Given the description of an element on the screen output the (x, y) to click on. 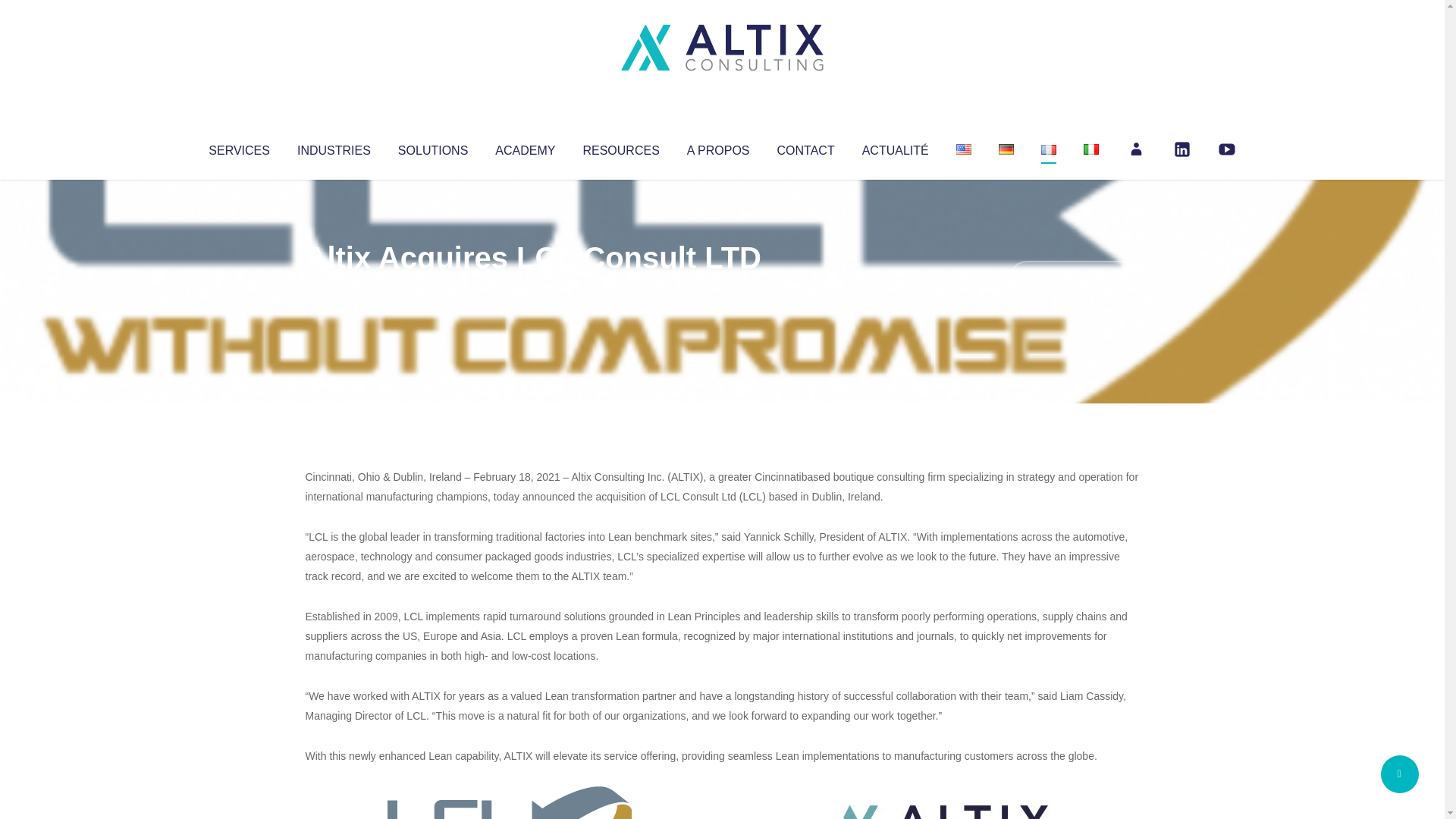
No Comments (1073, 278)
Altix (333, 287)
Uncategorized (530, 287)
Articles par Altix (333, 287)
ACADEMY (524, 146)
RESOURCES (620, 146)
A PROPOS (718, 146)
SOLUTIONS (432, 146)
SERVICES (238, 146)
INDUSTRIES (334, 146)
